Given the description of an element on the screen output the (x, y) to click on. 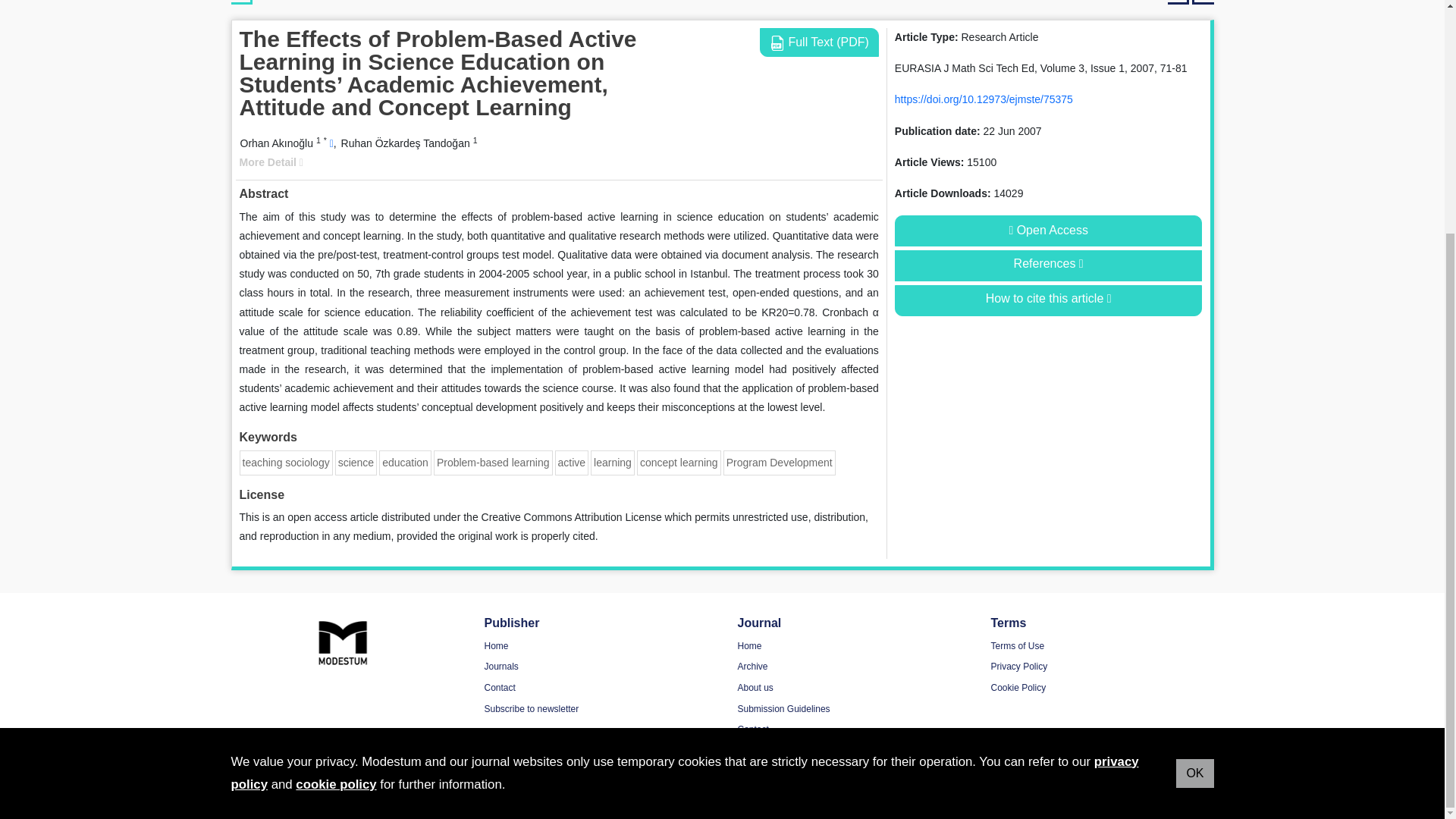
education (404, 462)
science (355, 462)
Previous article (1178, 2)
Problem-based learning (493, 462)
Back to article list (240, 2)
teaching sociology (286, 462)
Next article (1202, 2)
